Given the description of an element on the screen output the (x, y) to click on. 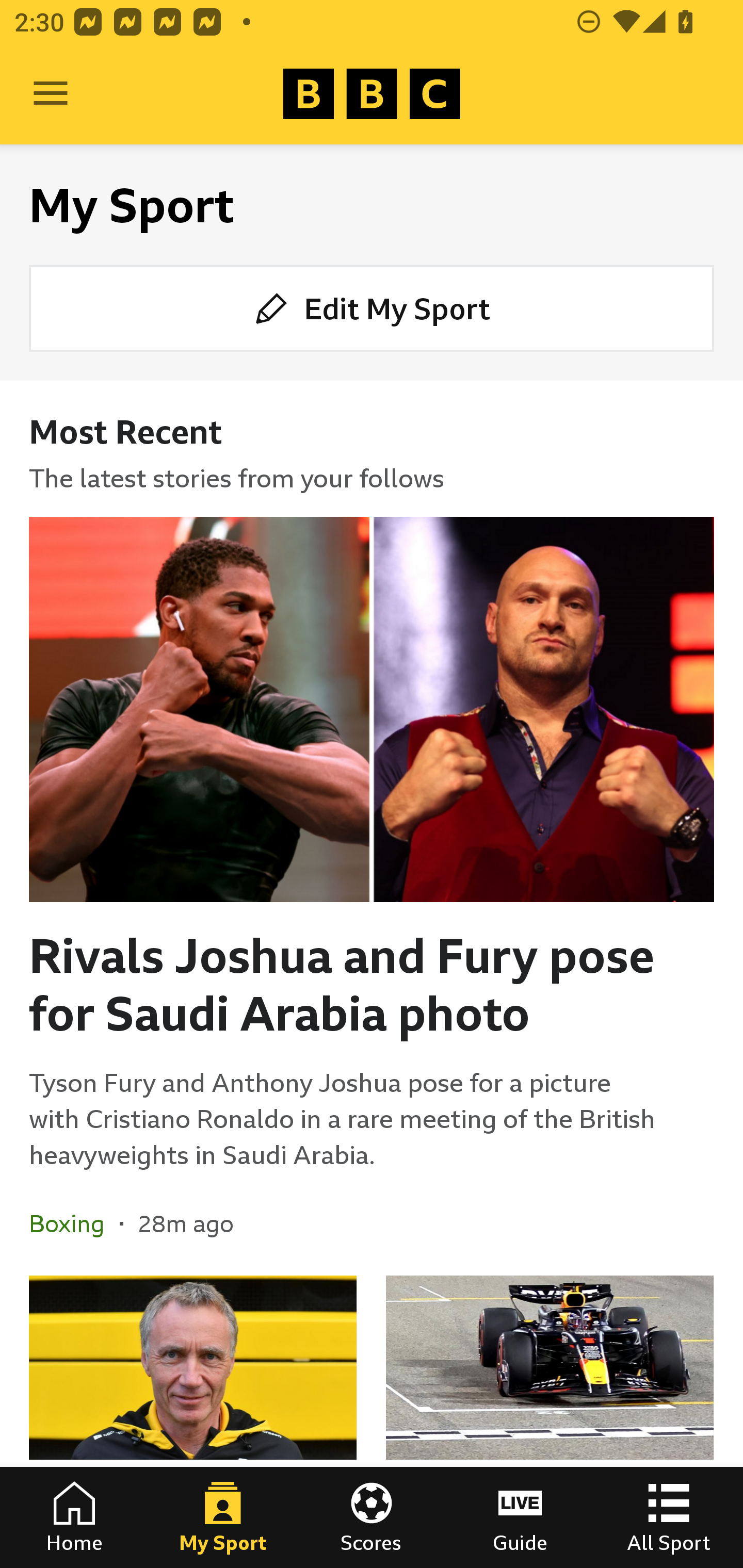
Open Menu (50, 93)
Edit My Sport (371, 307)
Engineer Bell leaves struggling Alpine (192, 1421)
Home (74, 1517)
Scores (371, 1517)
Guide (519, 1517)
All Sport (668, 1517)
